Given the description of an element on the screen output the (x, y) to click on. 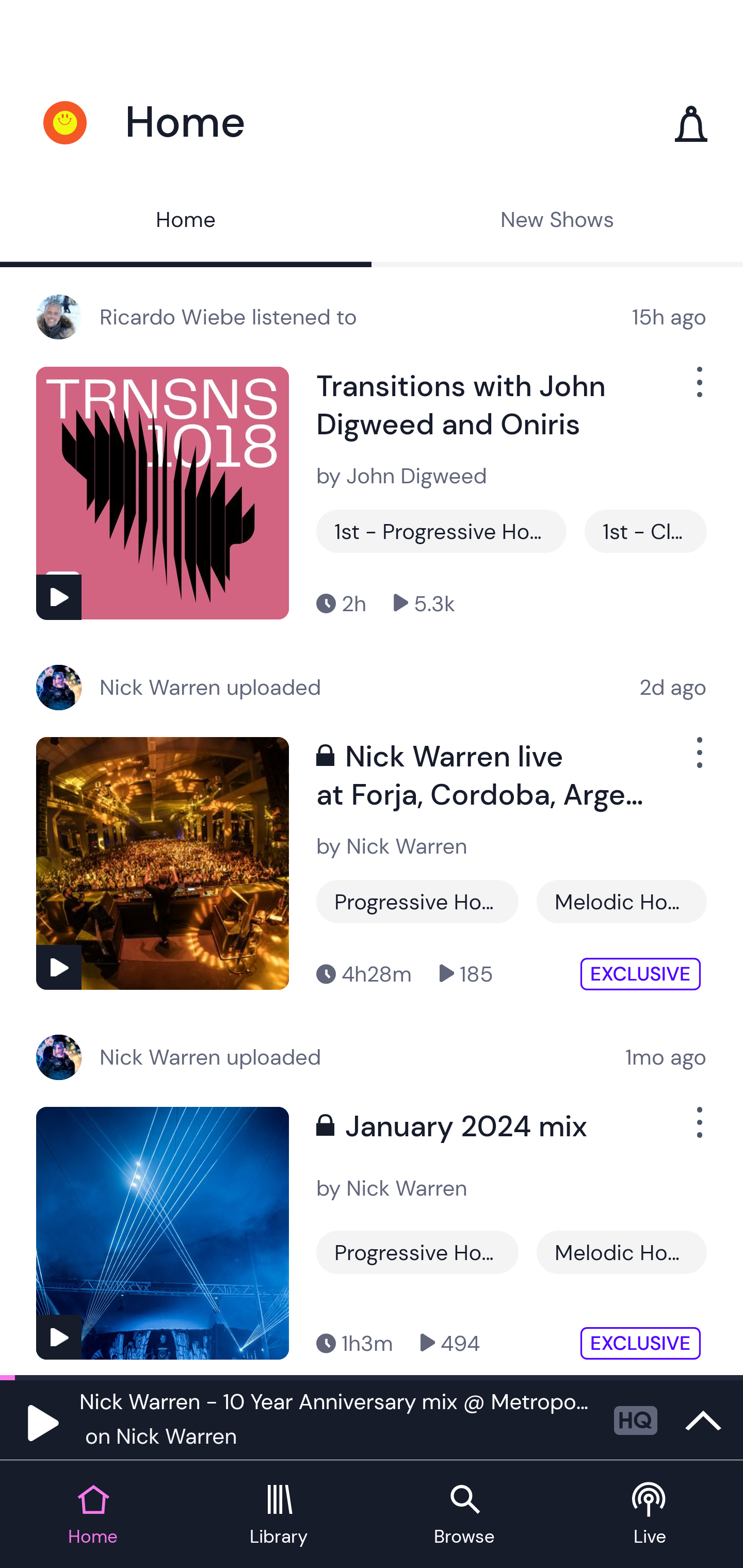
Home (185, 221)
New Shows (557, 221)
Show Options Menu Button (697, 389)
1st - Progressive House (441, 531)
1st - Club (645, 531)
Show Options Menu Button (697, 760)
Progressive House (417, 901)
Melodic House (621, 901)
Show Options Menu Button (697, 1130)
Progressive House (417, 1251)
Melodic House (621, 1251)
Home tab Home (92, 1515)
Library tab Library (278, 1515)
Browse tab Browse (464, 1515)
Live tab Live (650, 1515)
